Given the description of an element on the screen output the (x, y) to click on. 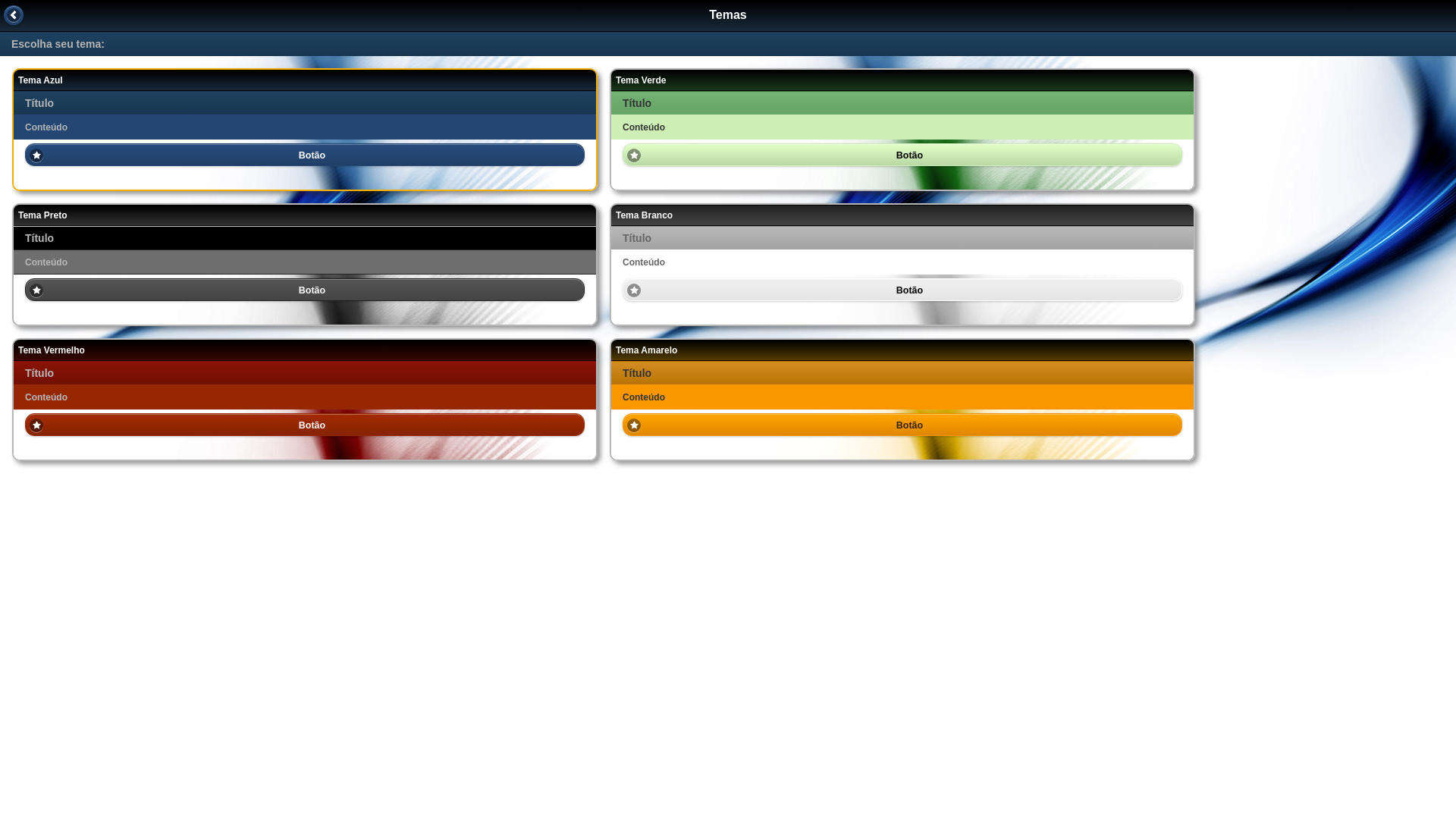
Voltar Element type: hover (13, 15)
  Element type: text (13, 15)
